Given the description of an element on the screen output the (x, y) to click on. 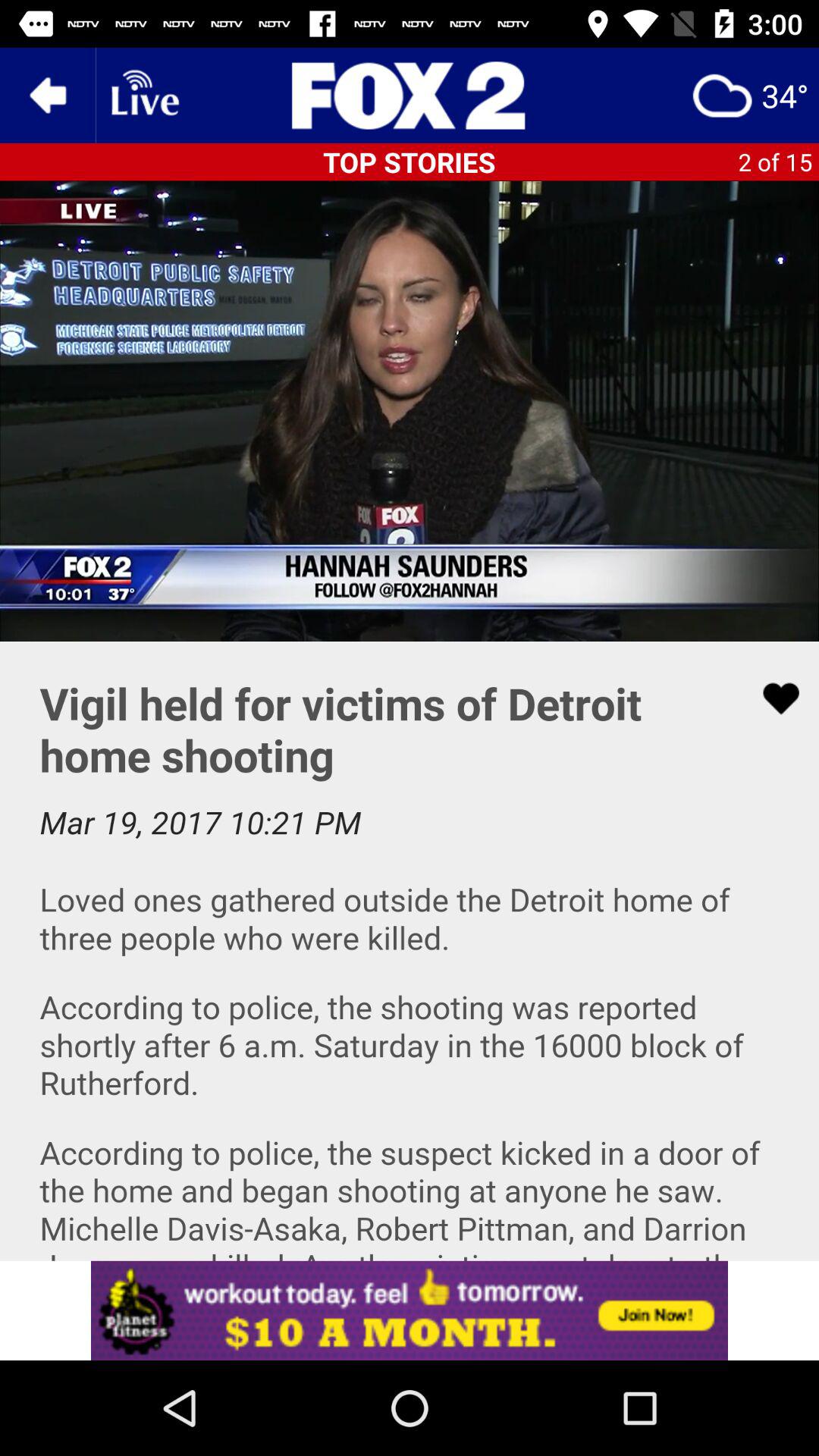
like option (771, 698)
